Given the description of an element on the screen output the (x, y) to click on. 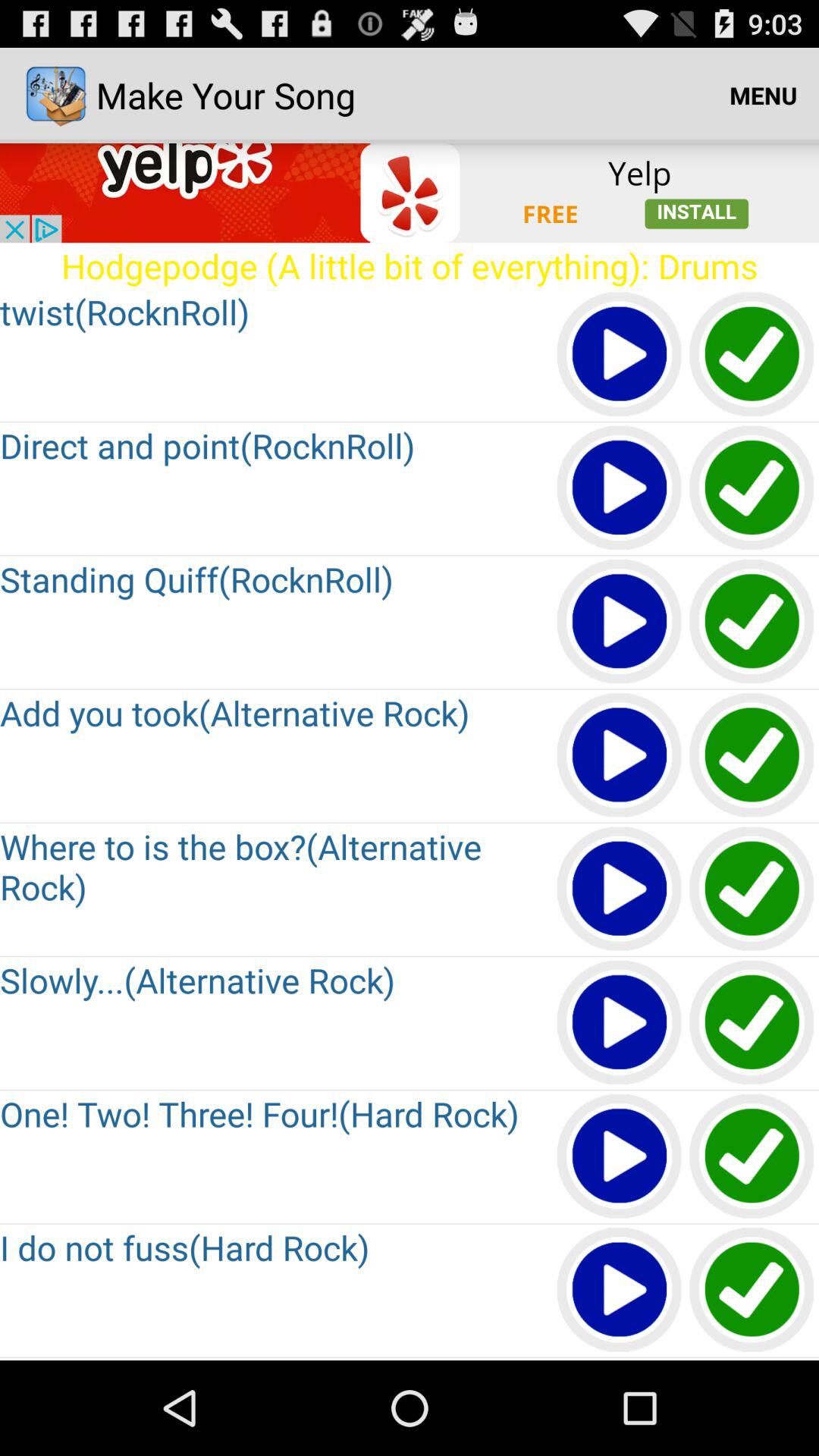
choose this option (752, 622)
